Given the description of an element on the screen output the (x, y) to click on. 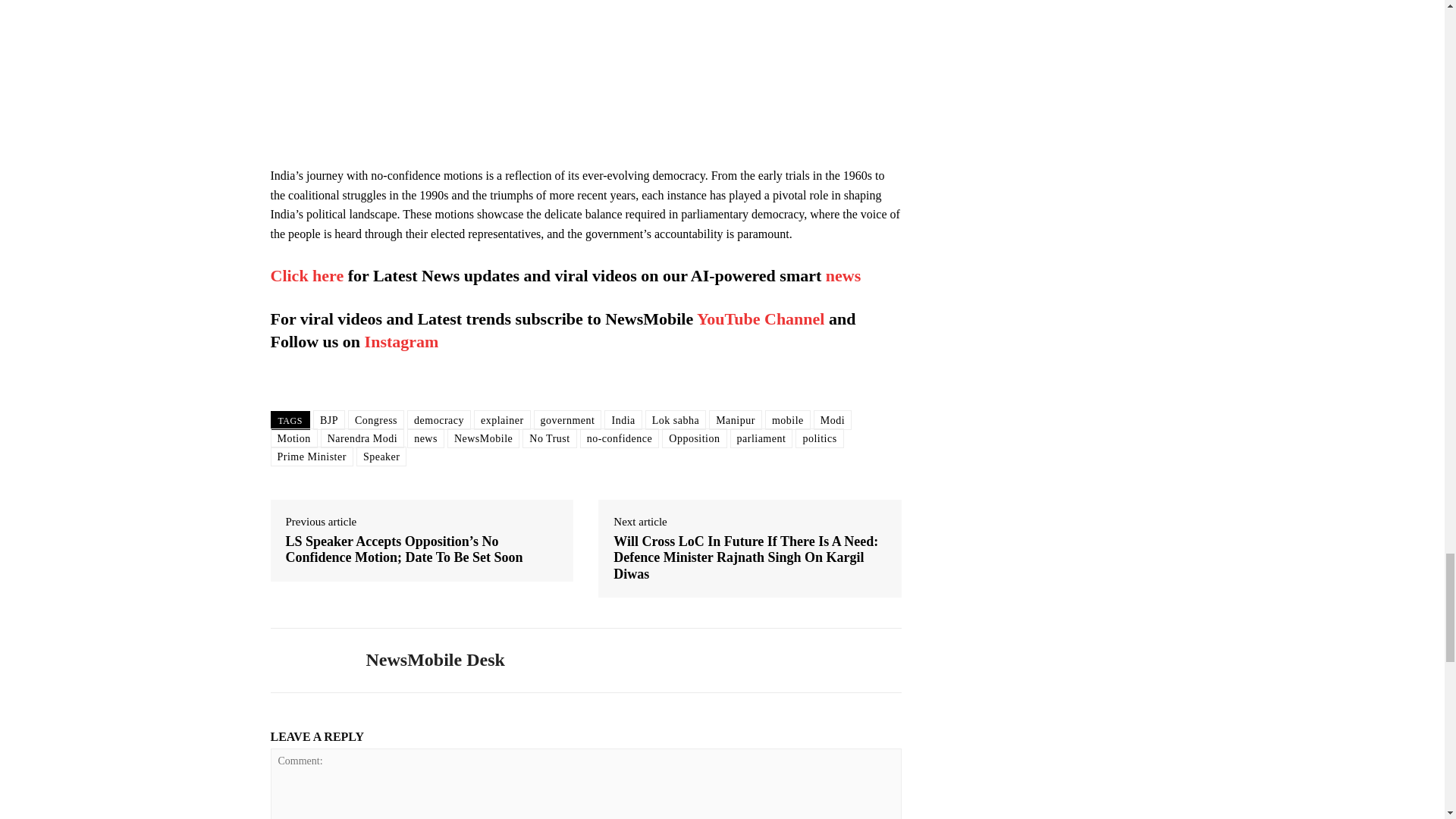
NewsMobile Desk (305, 660)
